Given the description of an element on the screen output the (x, y) to click on. 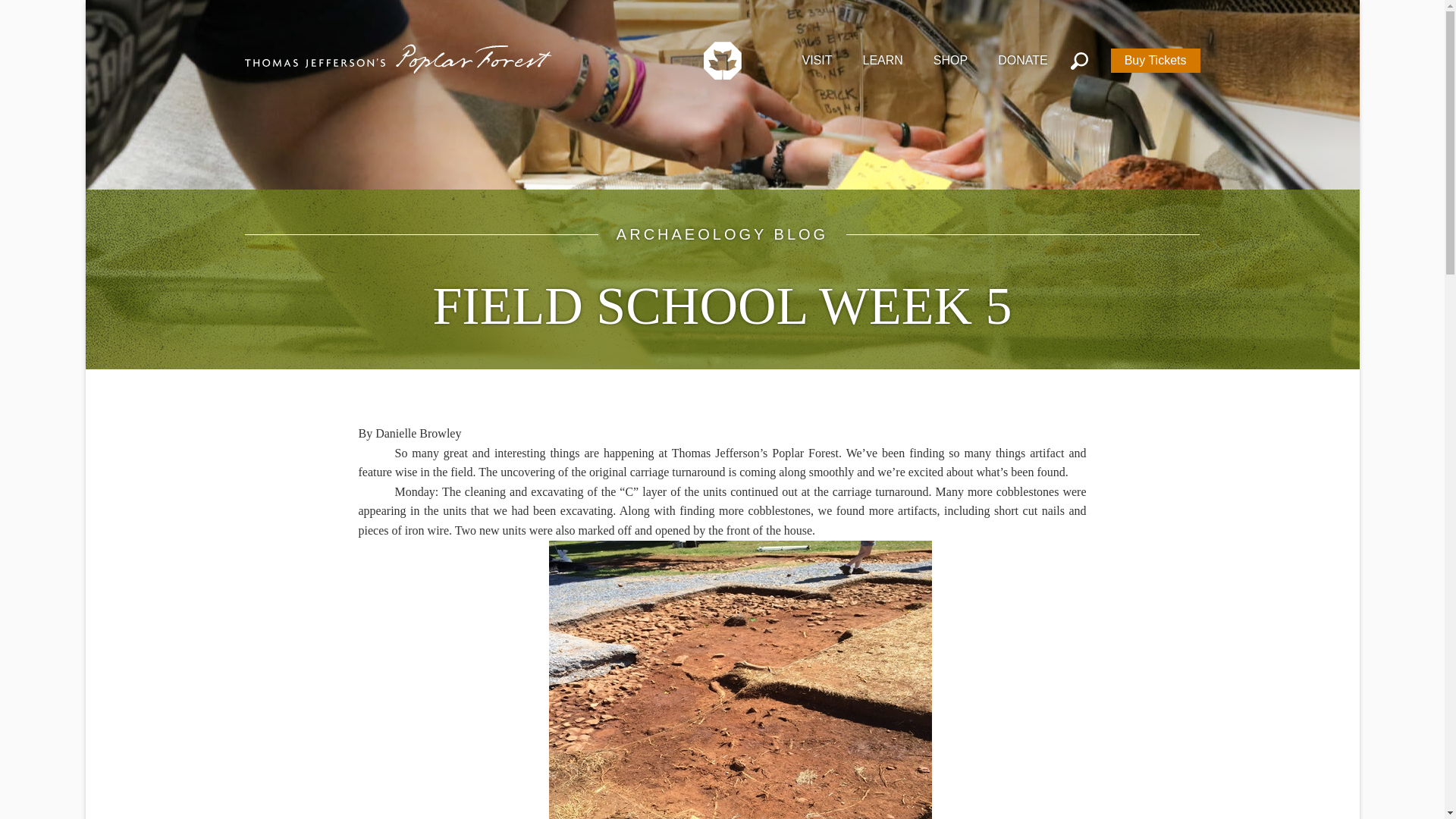
VISIT (816, 58)
DONATE (1021, 58)
SHOP (950, 58)
LEARN (882, 58)
ARCHAEOLOGY BLOG (721, 234)
Buy Tickets (1154, 60)
